Given the description of an element on the screen output the (x, y) to click on. 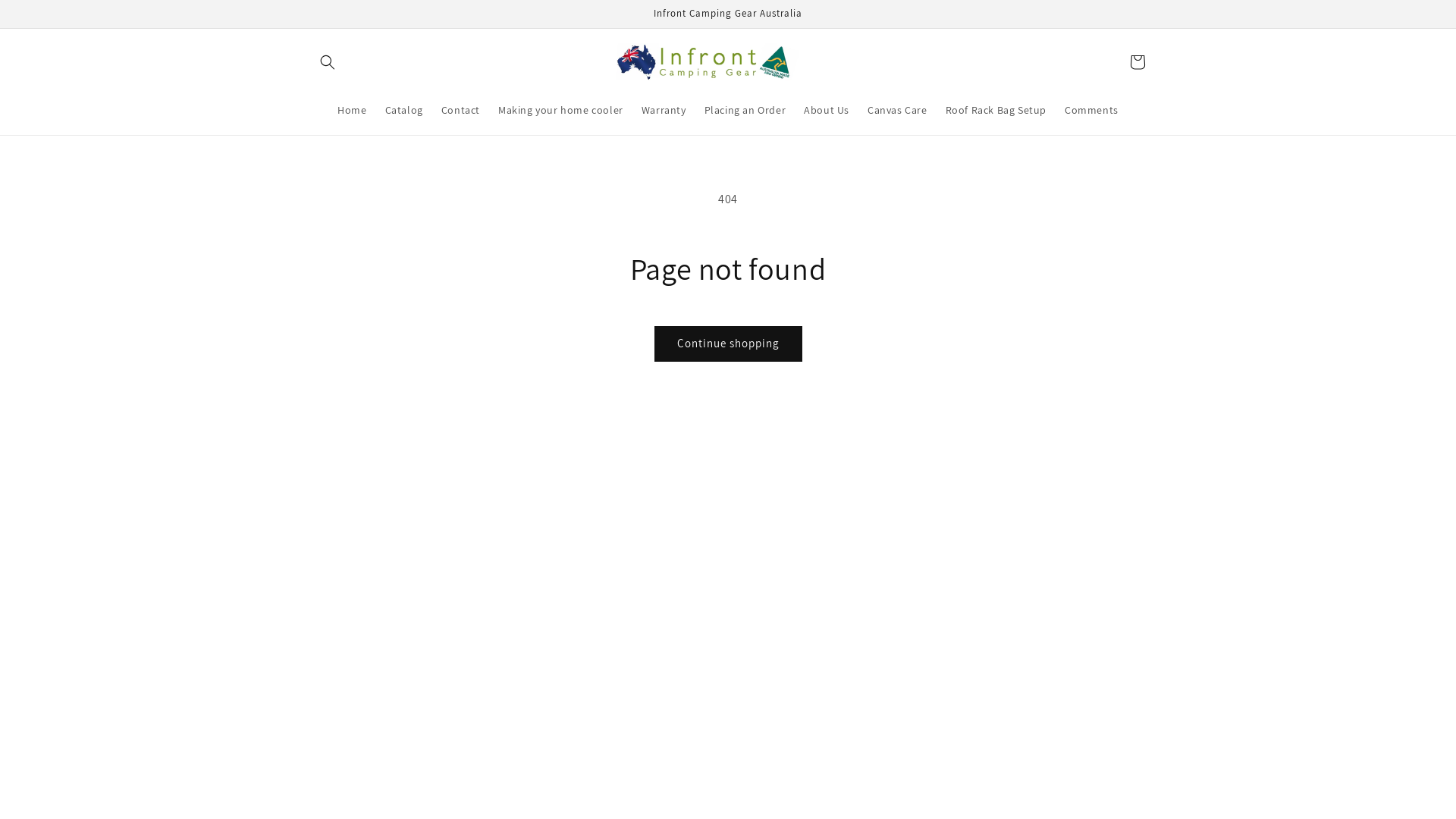
Warranty Element type: text (663, 109)
Roof Rack Bag Setup Element type: text (995, 109)
Placing an Order Element type: text (745, 109)
Catalog Element type: text (404, 109)
Continue shopping Element type: text (727, 343)
Comments Element type: text (1091, 109)
Contact Element type: text (460, 109)
Canvas Care Element type: text (897, 109)
About Us Element type: text (826, 109)
Cart Element type: text (1137, 61)
Home Element type: text (351, 109)
Making your home cooler Element type: text (560, 109)
